Given the description of an element on the screen output the (x, y) to click on. 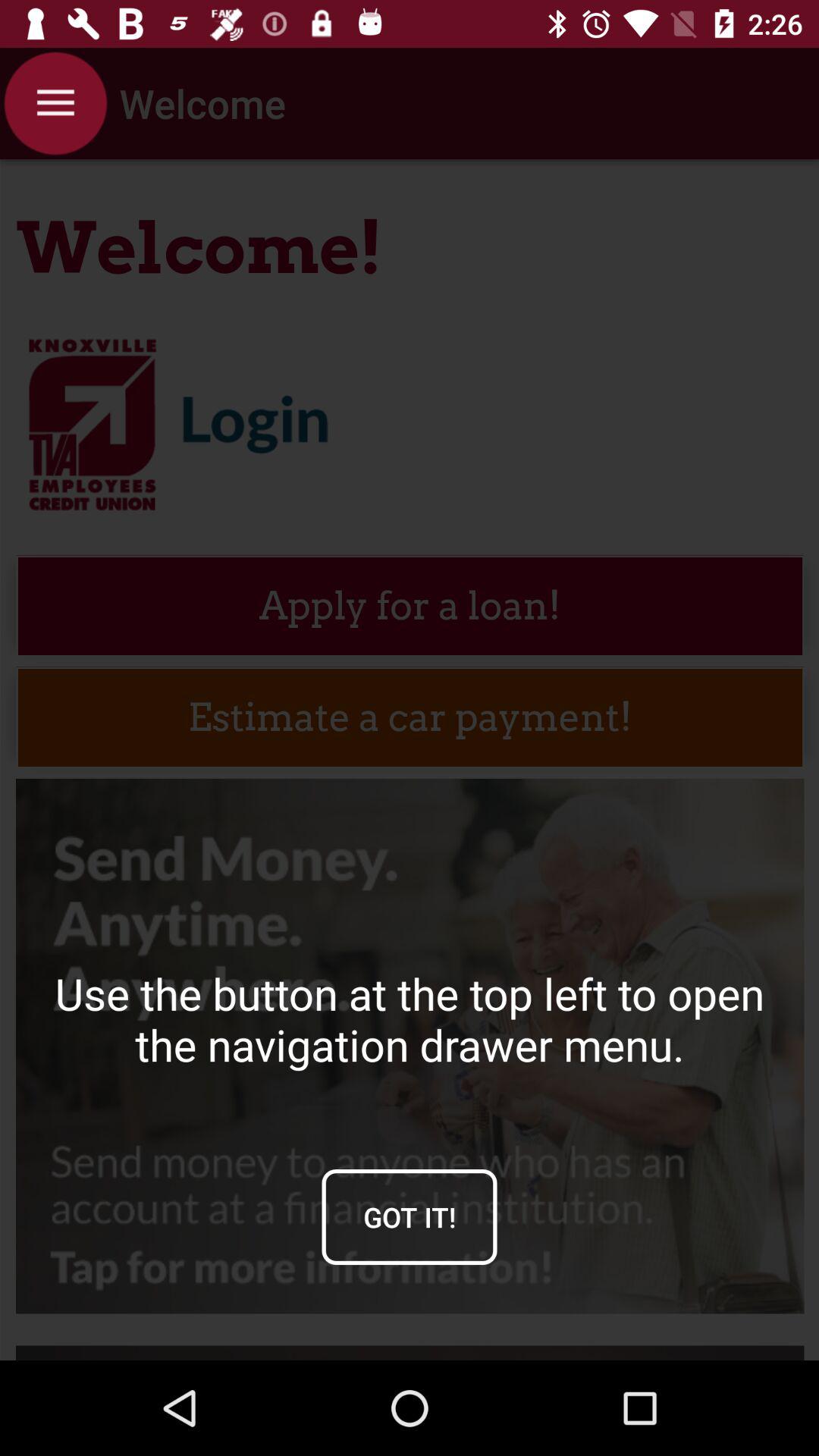
flip until got it! icon (409, 1216)
